Given the description of an element on the screen output the (x, y) to click on. 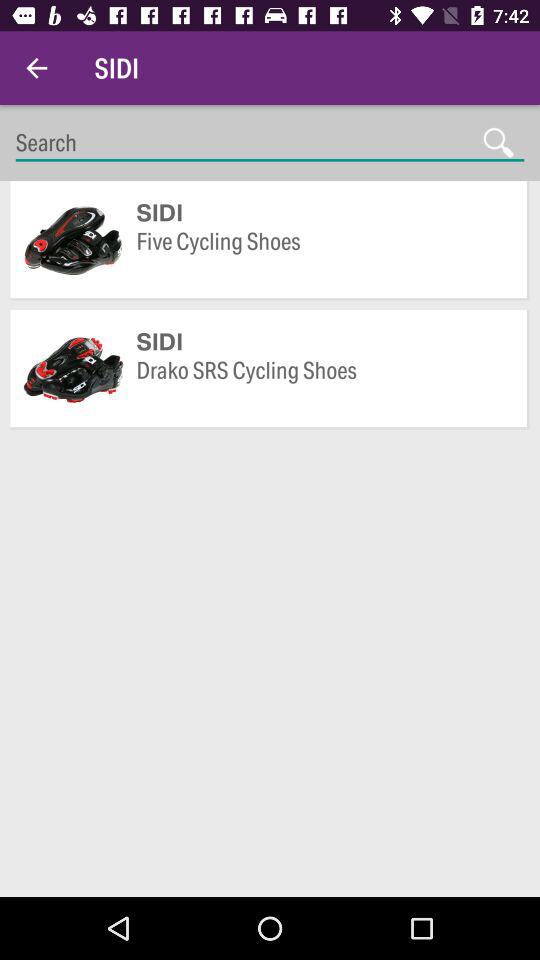
choose drako srs cycling item (322, 385)
